Given the description of an element on the screen output the (x, y) to click on. 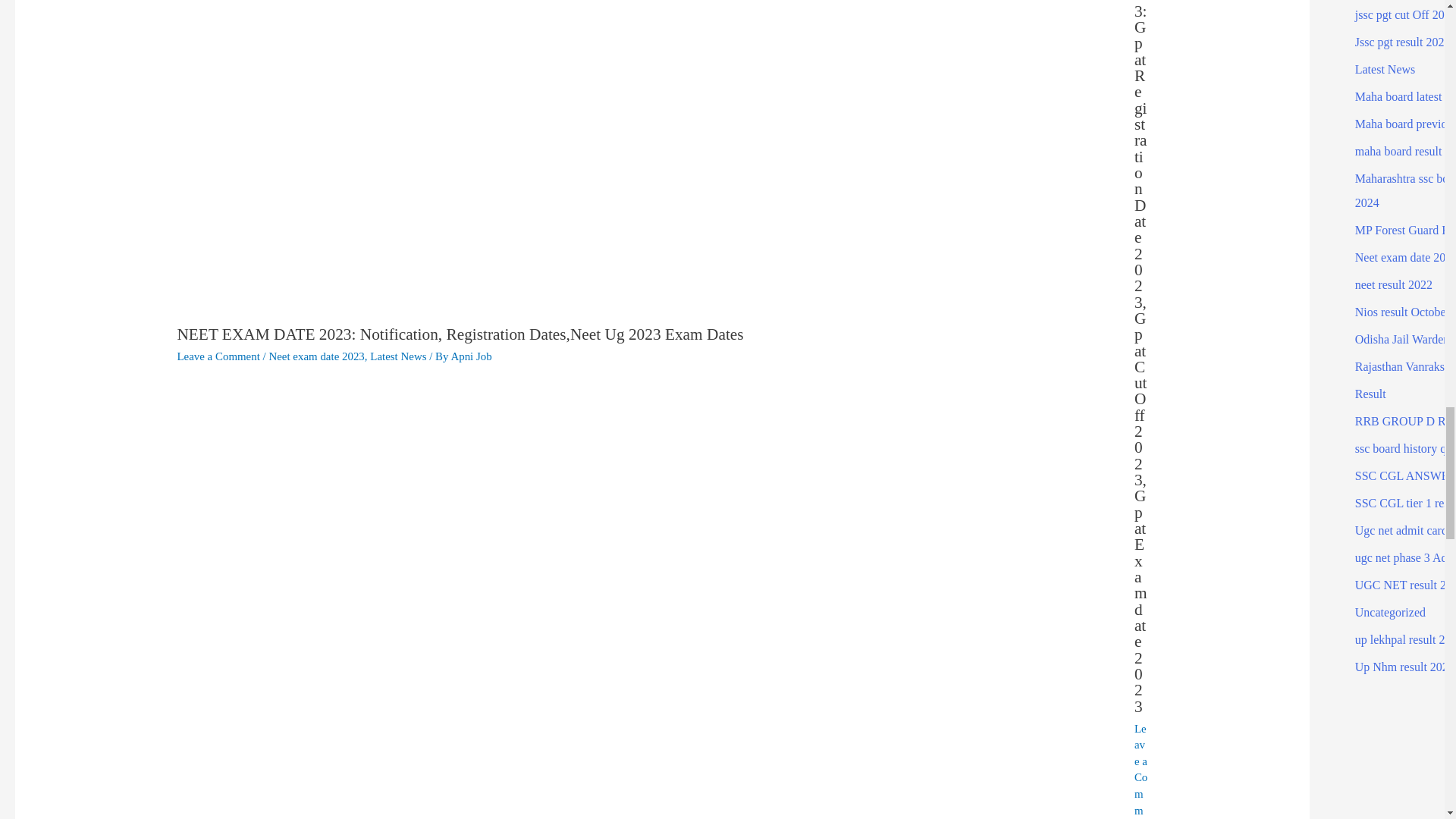
Neet exam date 2023 (315, 356)
Leave a Comment (217, 356)
View all posts by Apni Job (470, 356)
Latest News (397, 356)
Leave a Comment (1140, 770)
Apni Job (470, 356)
